Given the description of an element on the screen output the (x, y) to click on. 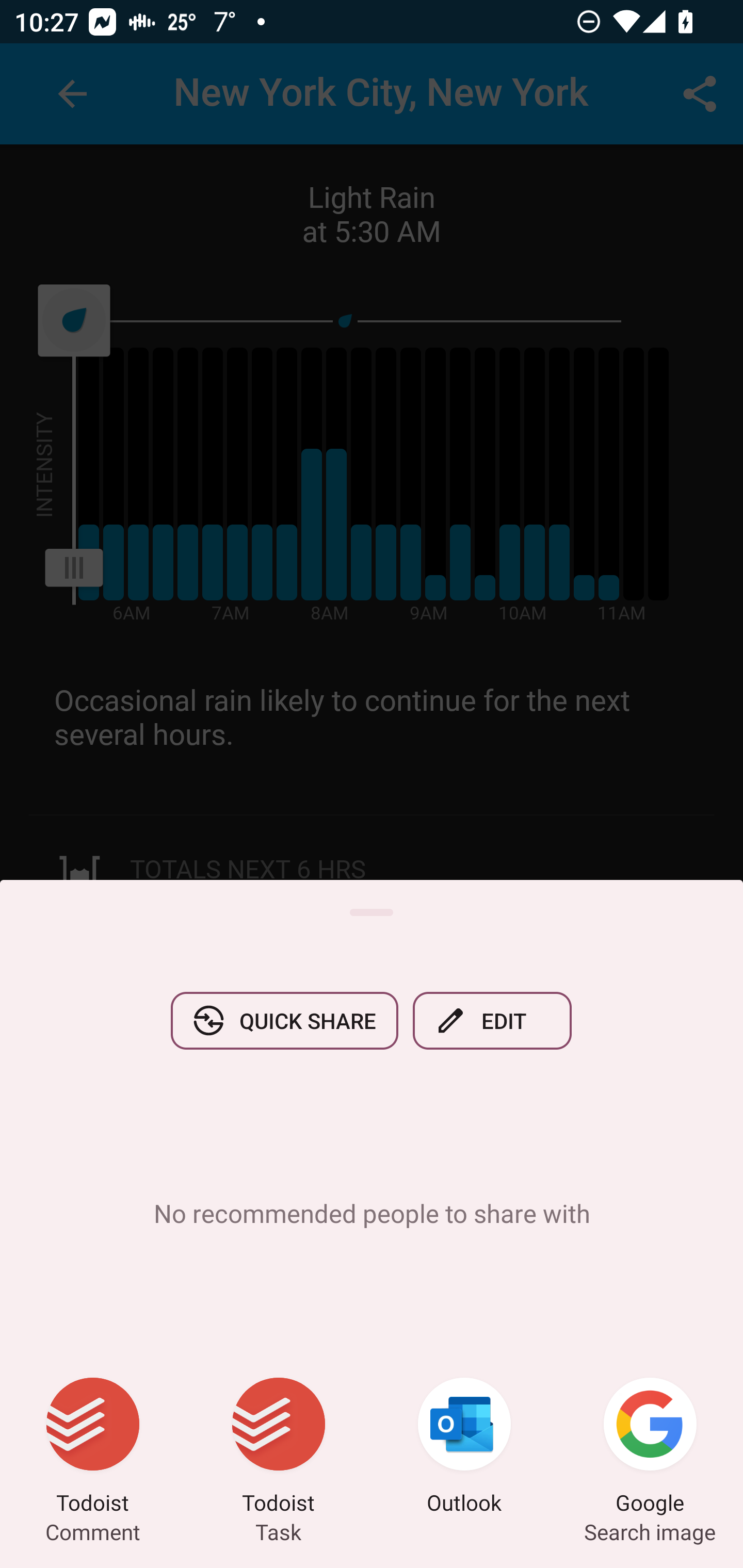
QUICK SHARE (284, 1020)
EDIT (492, 1020)
Todoist Comment (92, 1448)
Todoist Task (278, 1448)
Outlook (464, 1448)
Google Search image (650, 1448)
